Given the description of an element on the screen output the (x, y) to click on. 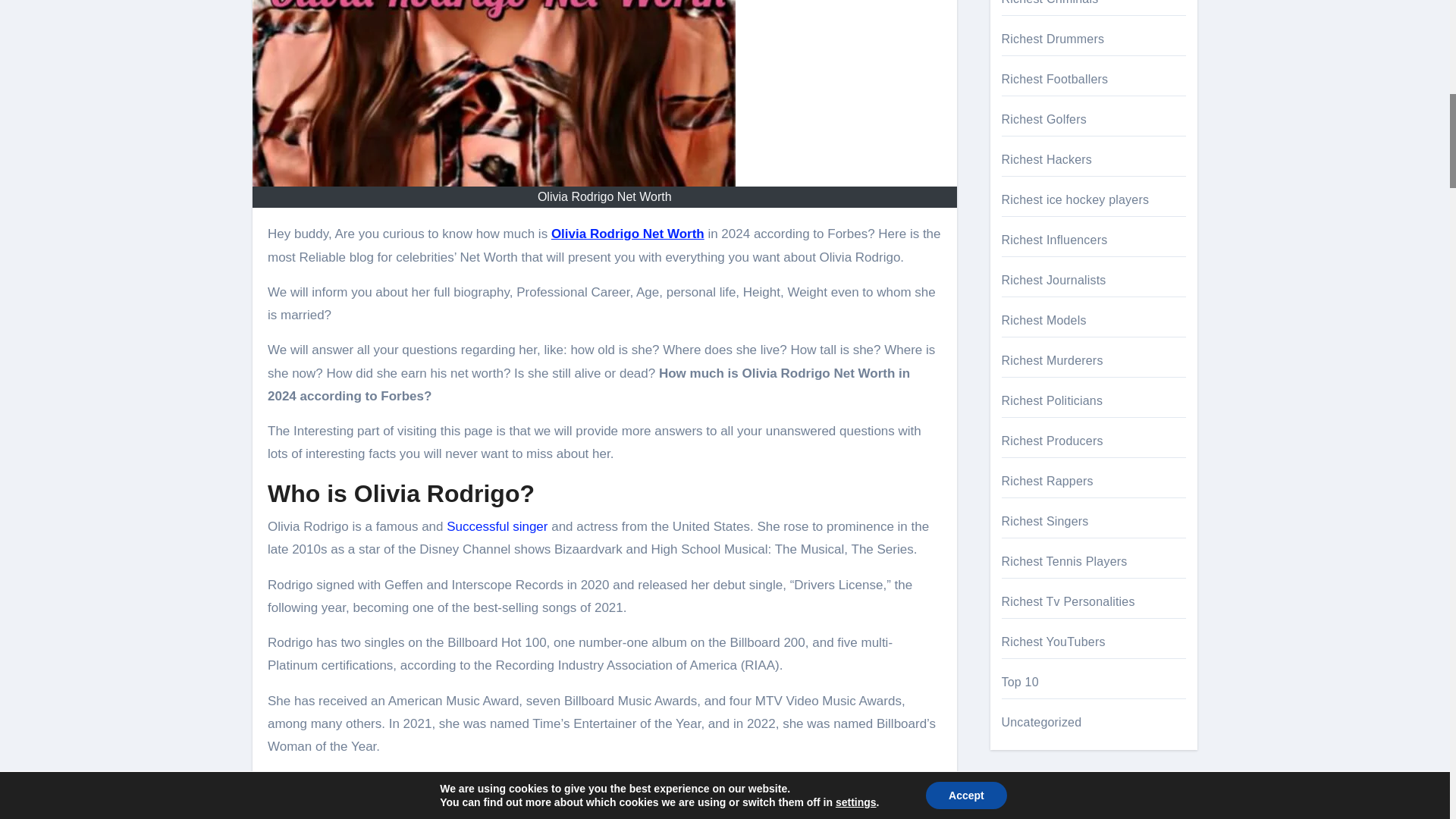
Successful singer (496, 526)
Olivia Rodrigo Net Worth (627, 233)
